Given the description of an element on the screen output the (x, y) to click on. 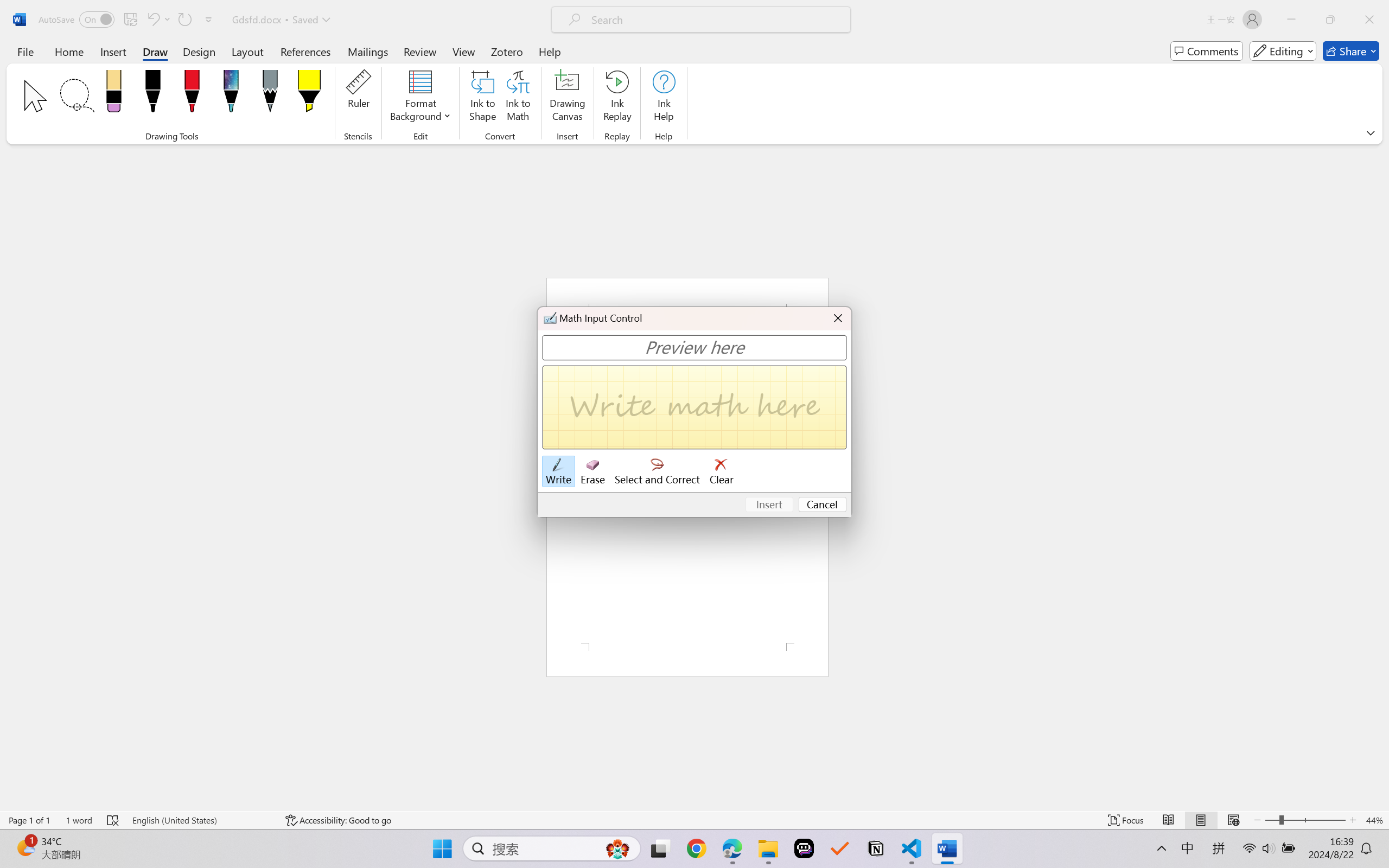
Erase (592, 471)
Write (558, 471)
Select and Correct (657, 471)
Clear (721, 471)
